Given the description of an element on the screen output the (x, y) to click on. 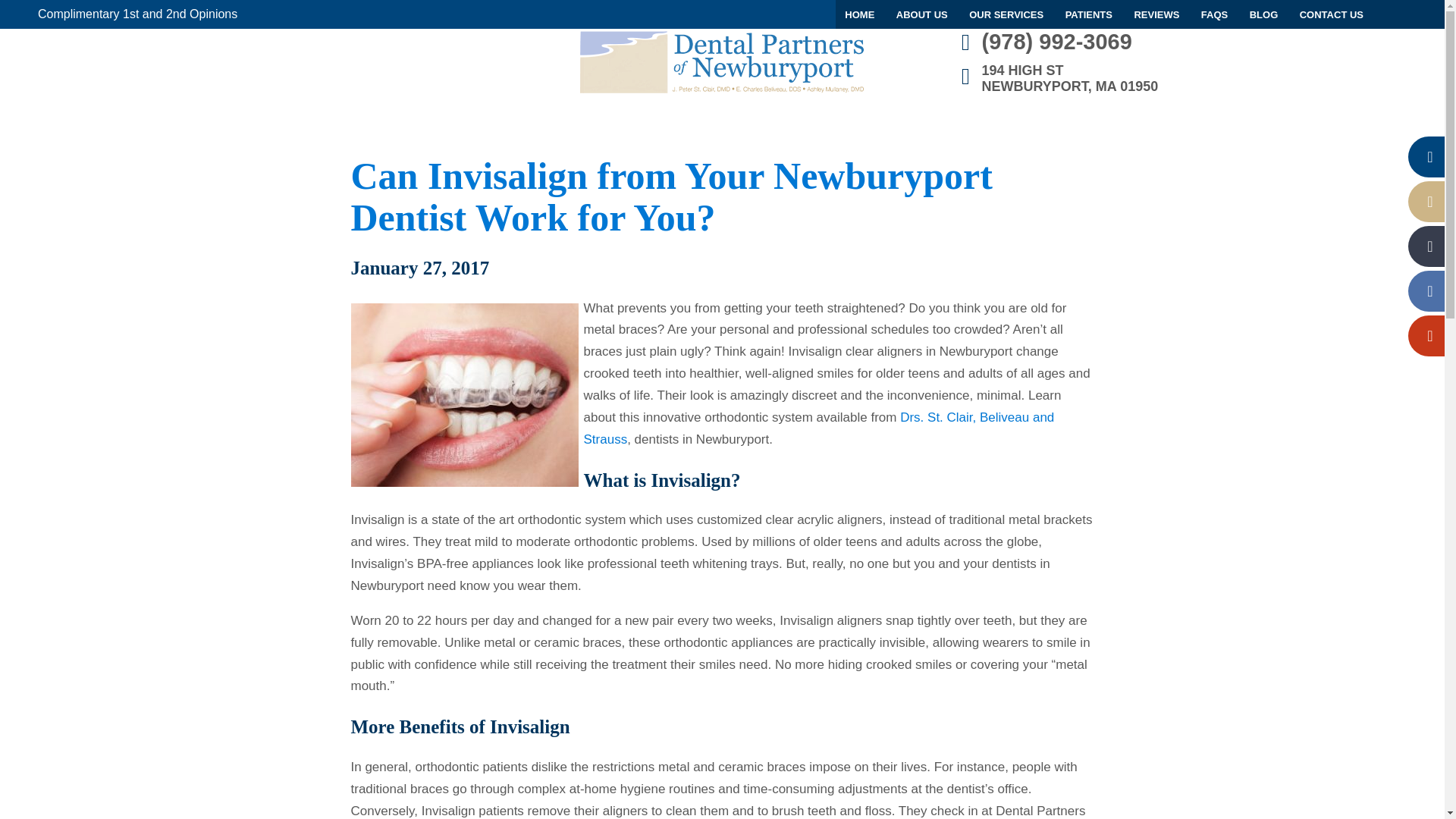
REVIEWS (1156, 14)
FAQS (1214, 14)
CONTACT US (1173, 79)
Can Invisalign from Your Newburyport Dentist Work for You? (1331, 14)
ABOUT US (670, 196)
BLOG (921, 14)
OUR SERVICES (1263, 14)
PATIENTS (1005, 14)
Complimentary 1st and 2nd Opinions (1089, 14)
HOME (137, 13)
